Given the description of an element on the screen output the (x, y) to click on. 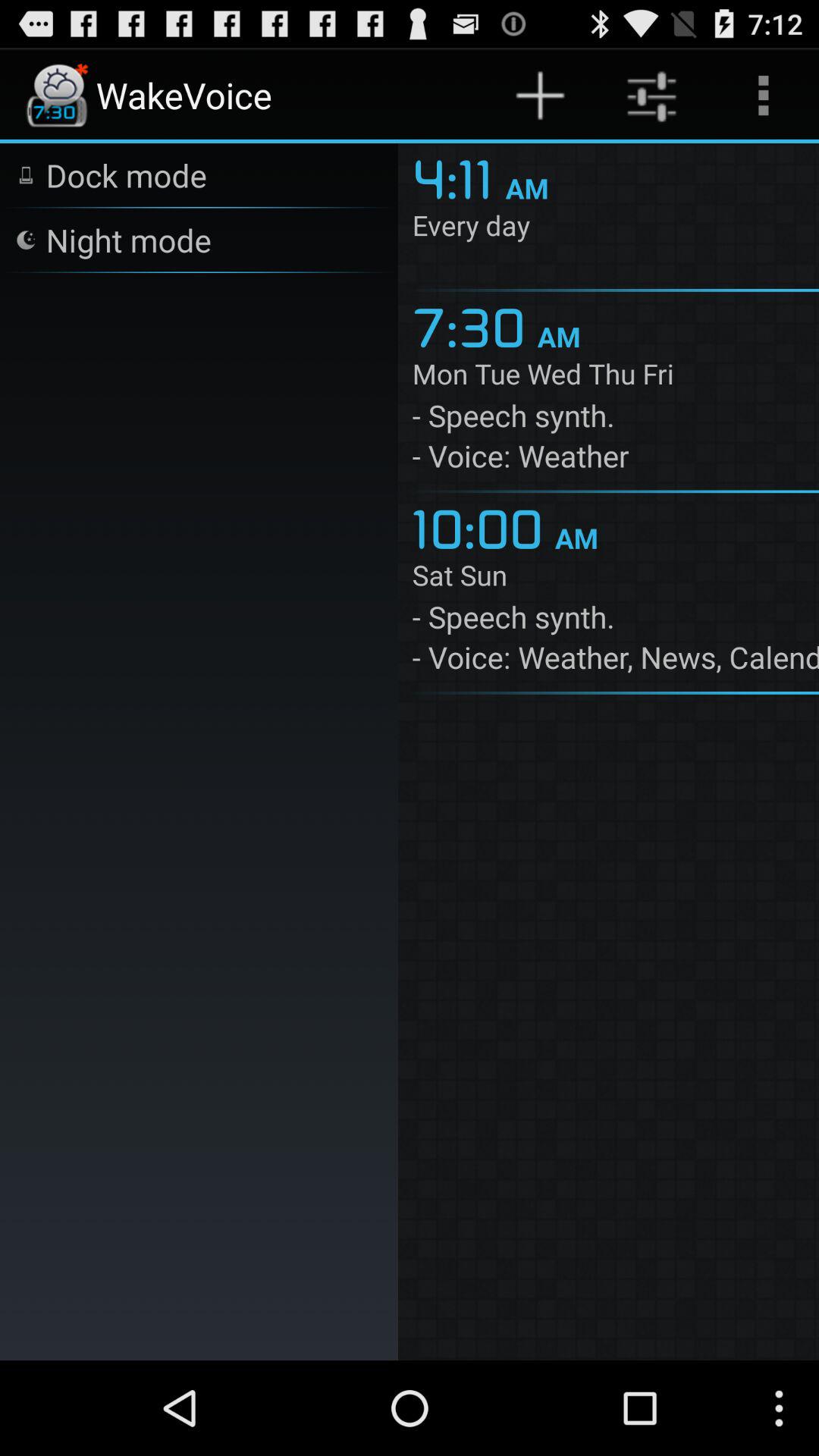
open app next to the 4:11 icon (128, 239)
